Given the description of an element on the screen output the (x, y) to click on. 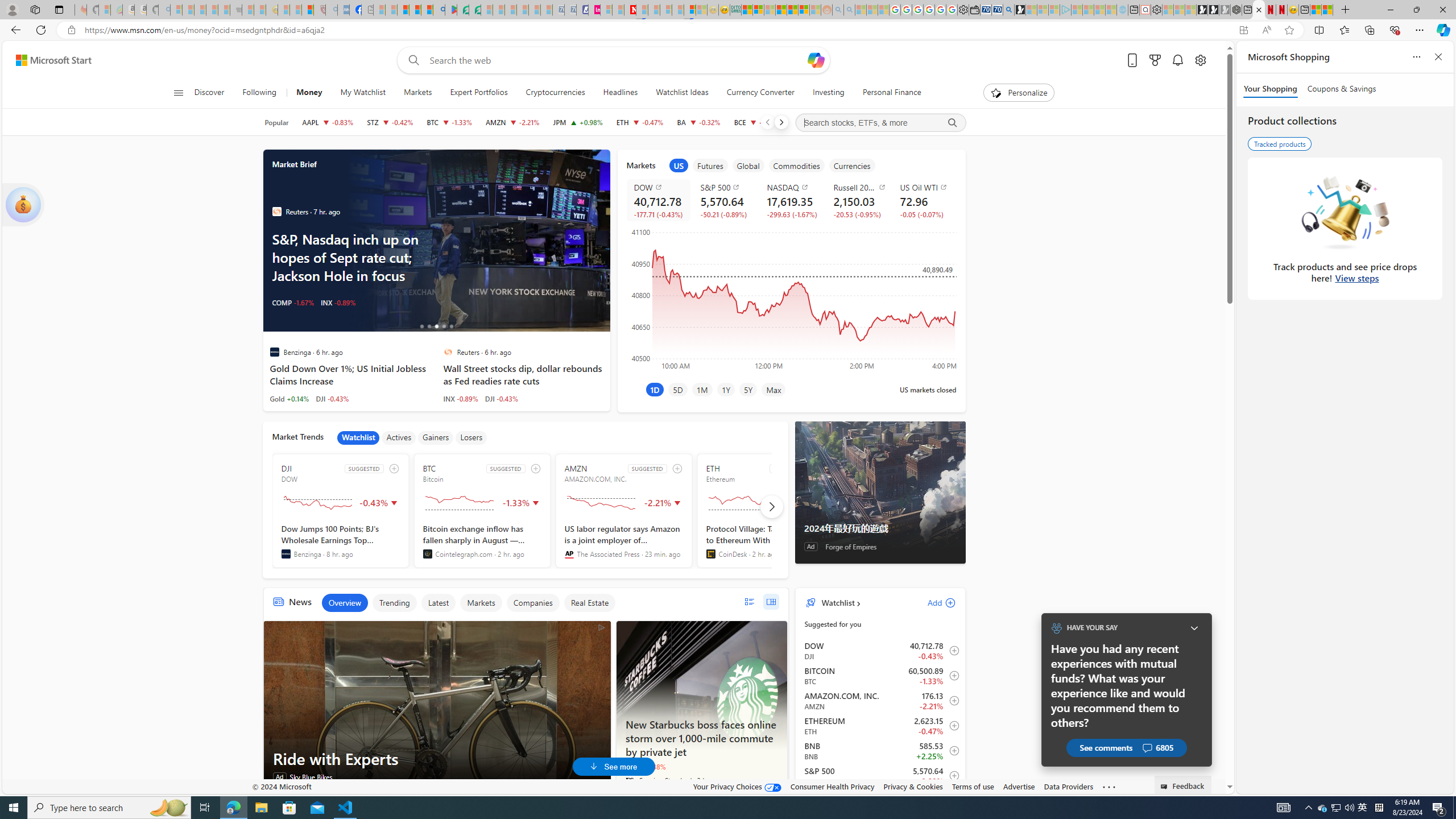
ETH Ethereum decrease 2,623.15 -12.43 -0.47% item3 (880, 725)
MarketWatch (276, 211)
Cheap Hotels - Save70.com - Sleeping (569, 9)
S&P 500 (727, 187)
Class: button-glyph (178, 92)
Open navigation menu (177, 92)
Wallet (974, 9)
Popular (276, 121)
BA THE BOEING COMPANY decrease 172.87 -0.56 -0.32% (698, 122)
